Given the description of an element on the screen output the (x, y) to click on. 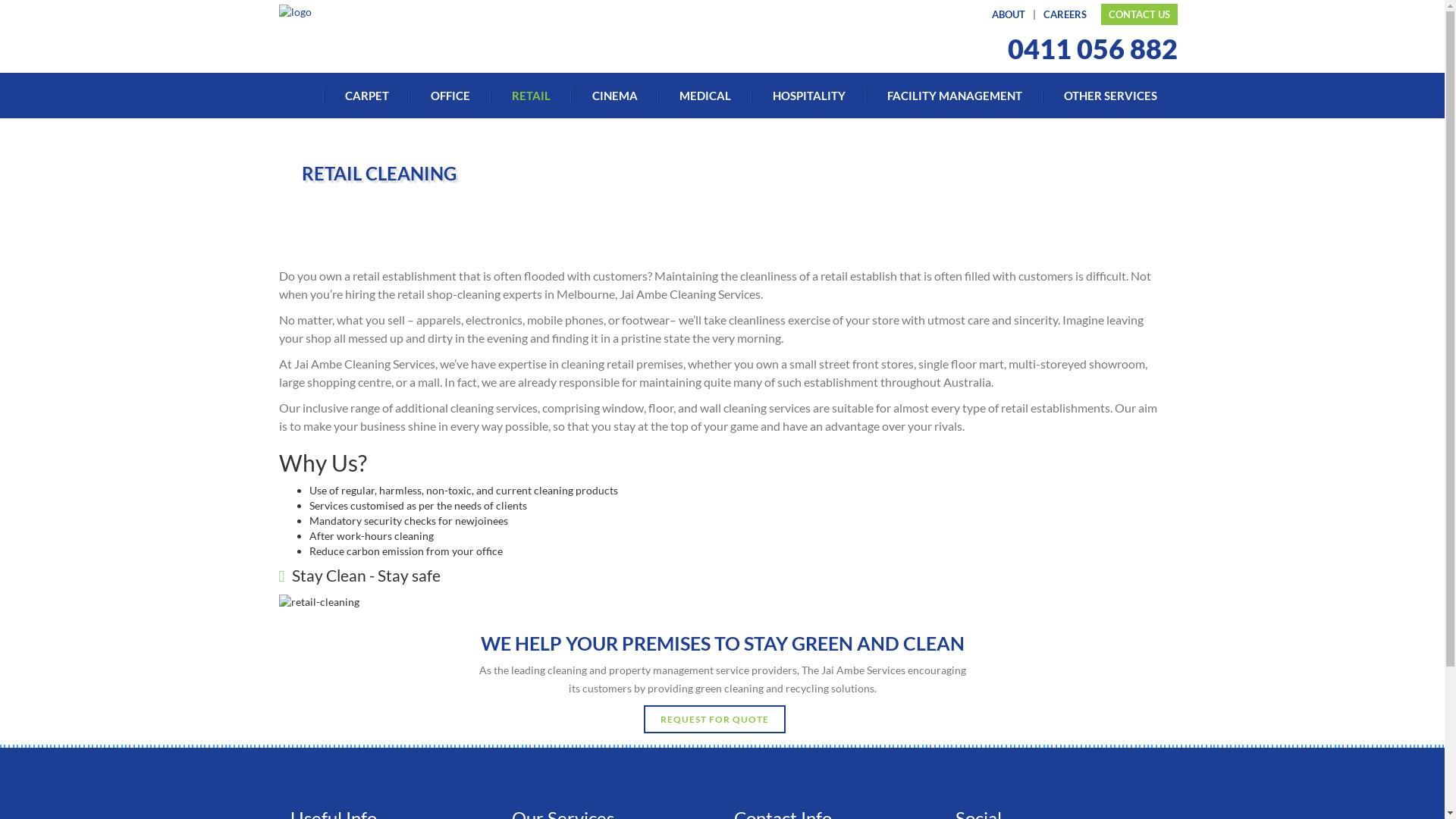
ABOUT Element type: text (1007, 14)
RETAIL Element type: text (529, 95)
HOME Element type: text (301, 95)
REQUEST FOR QUOTE Element type: text (714, 719)
CARPET Element type: text (365, 95)
HOSPITALITY Element type: text (807, 95)
CINEMA Element type: text (613, 95)
Logo Element type: hover (295, 10)
OFFICE Element type: text (449, 95)
MEDICAL Element type: text (704, 95)
CONTACT US Element type: text (1139, 14)
OTHER SERVICES Element type: text (1098, 95)
CAREERS Element type: text (1064, 14)
0411 056 882 Element type: text (1091, 48)
FACILITY MANAGEMENT Element type: text (954, 95)
